Given the description of an element on the screen output the (x, y) to click on. 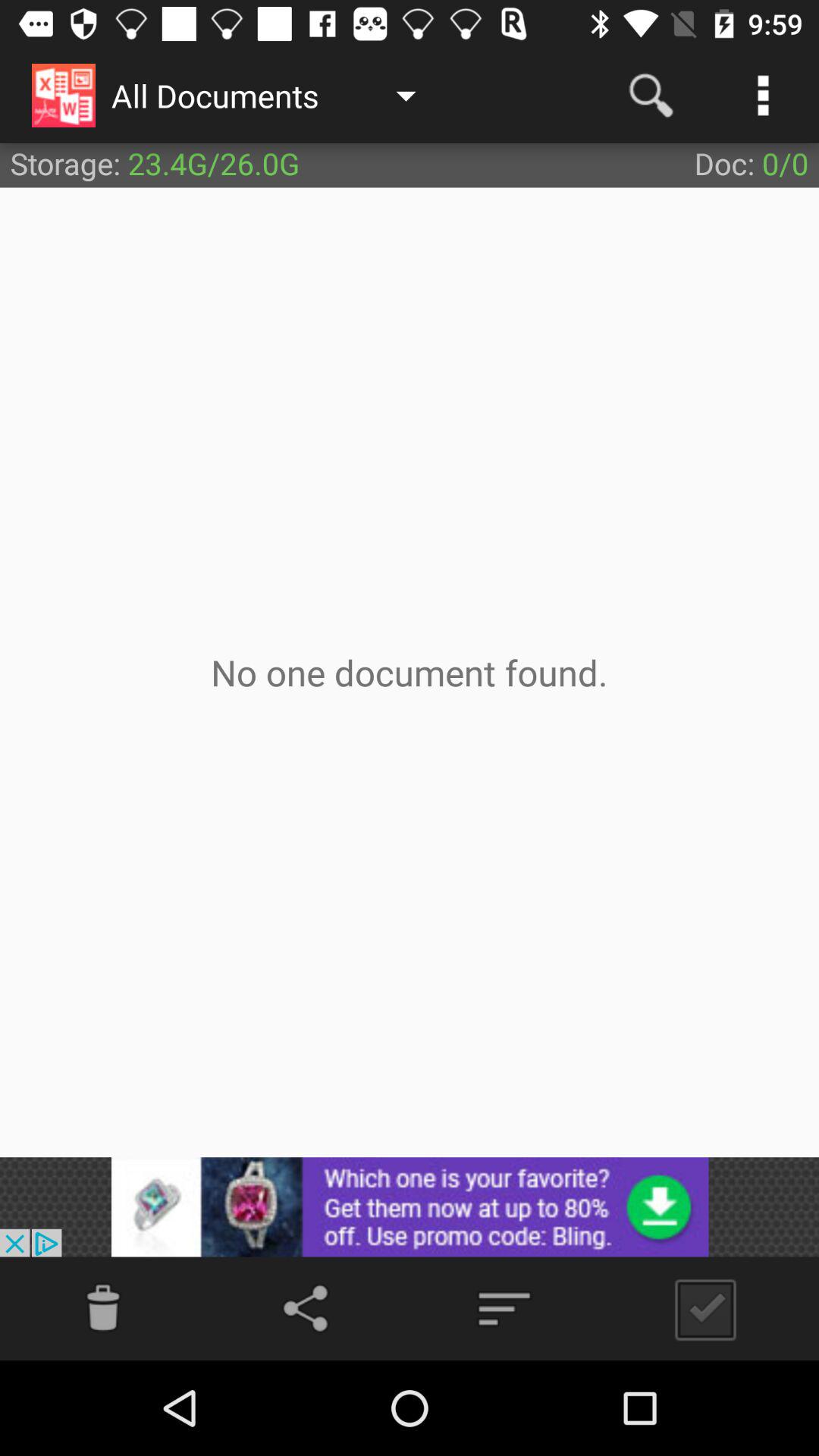
advertisement (409, 1206)
